Given the description of an element on the screen output the (x, y) to click on. 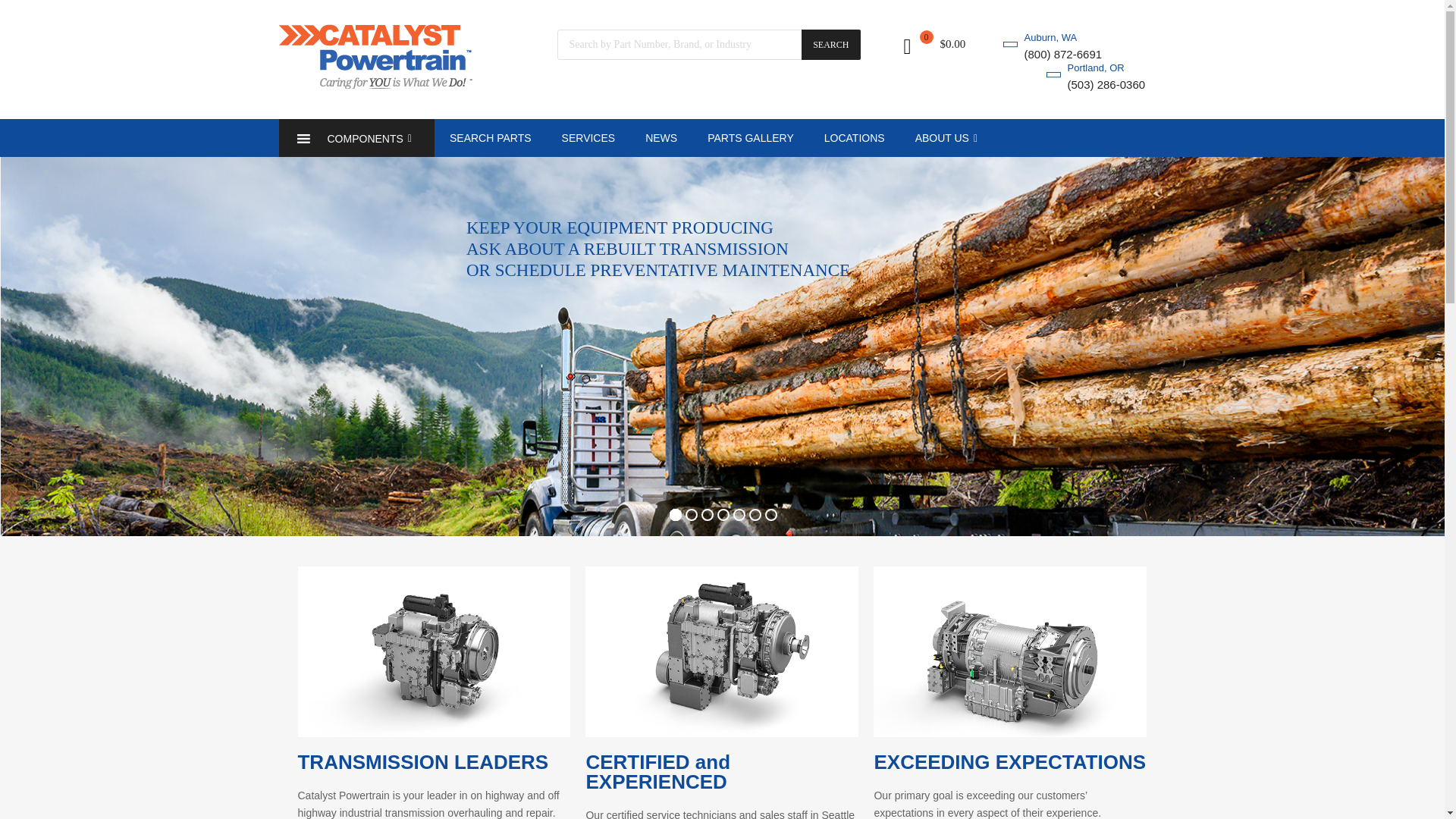
LOCATIONS (854, 137)
SERVICES (588, 137)
COMPONENTS (356, 137)
PARTS GALLERY (751, 137)
Catalyst Powertrain (375, 84)
SEARCH PARTS (490, 137)
SEARCH (831, 44)
ABOUT US (945, 137)
NEWS (661, 137)
